Given the description of an element on the screen output the (x, y) to click on. 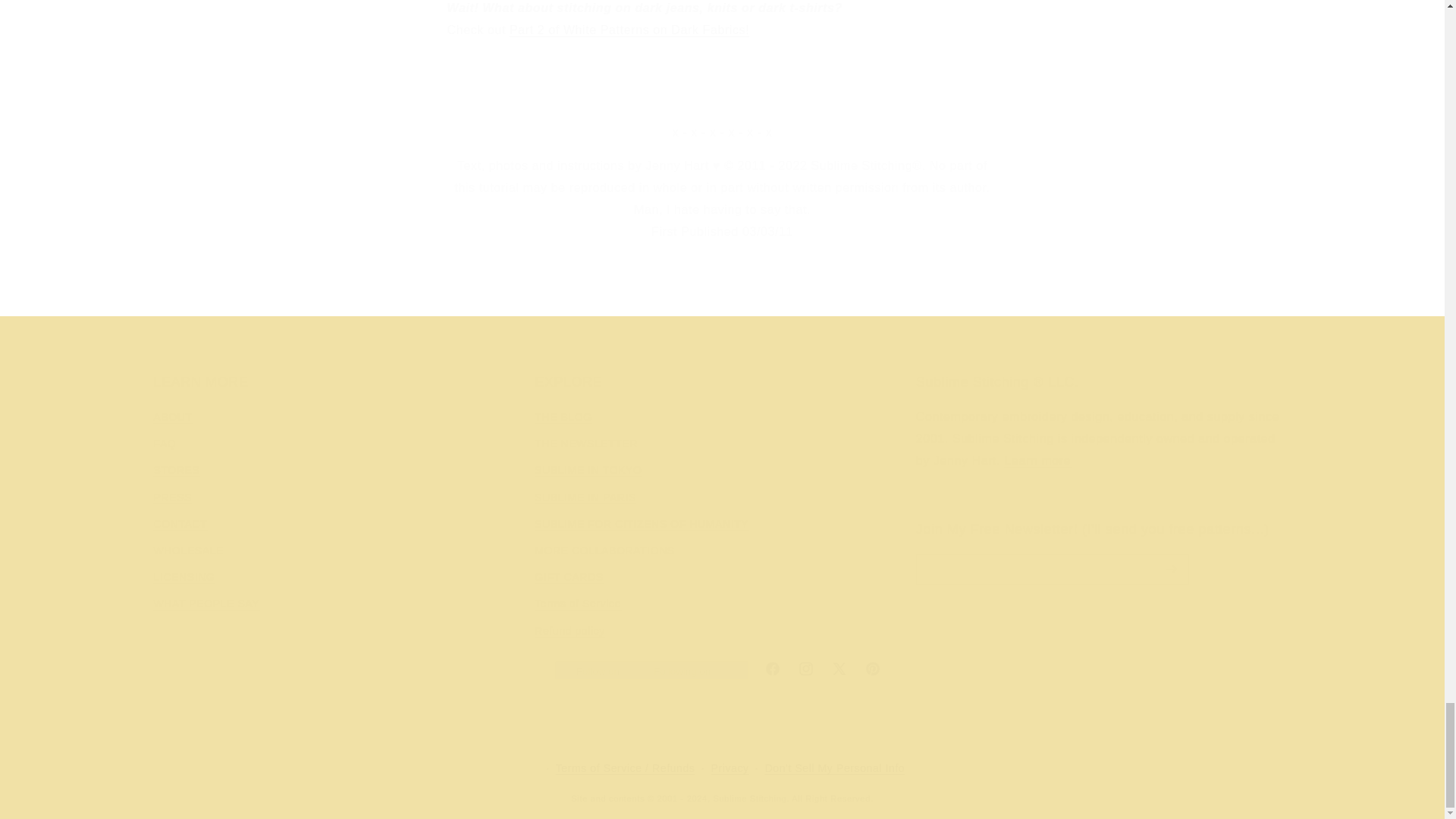
0 (435, 290)
0 (626, 290)
0 (816, 290)
0 (1198, 290)
0 (1007, 290)
As seen in (244, 290)
Subscribe (961, 622)
As seen in (721, 274)
